Given the description of an element on the screen output the (x, y) to click on. 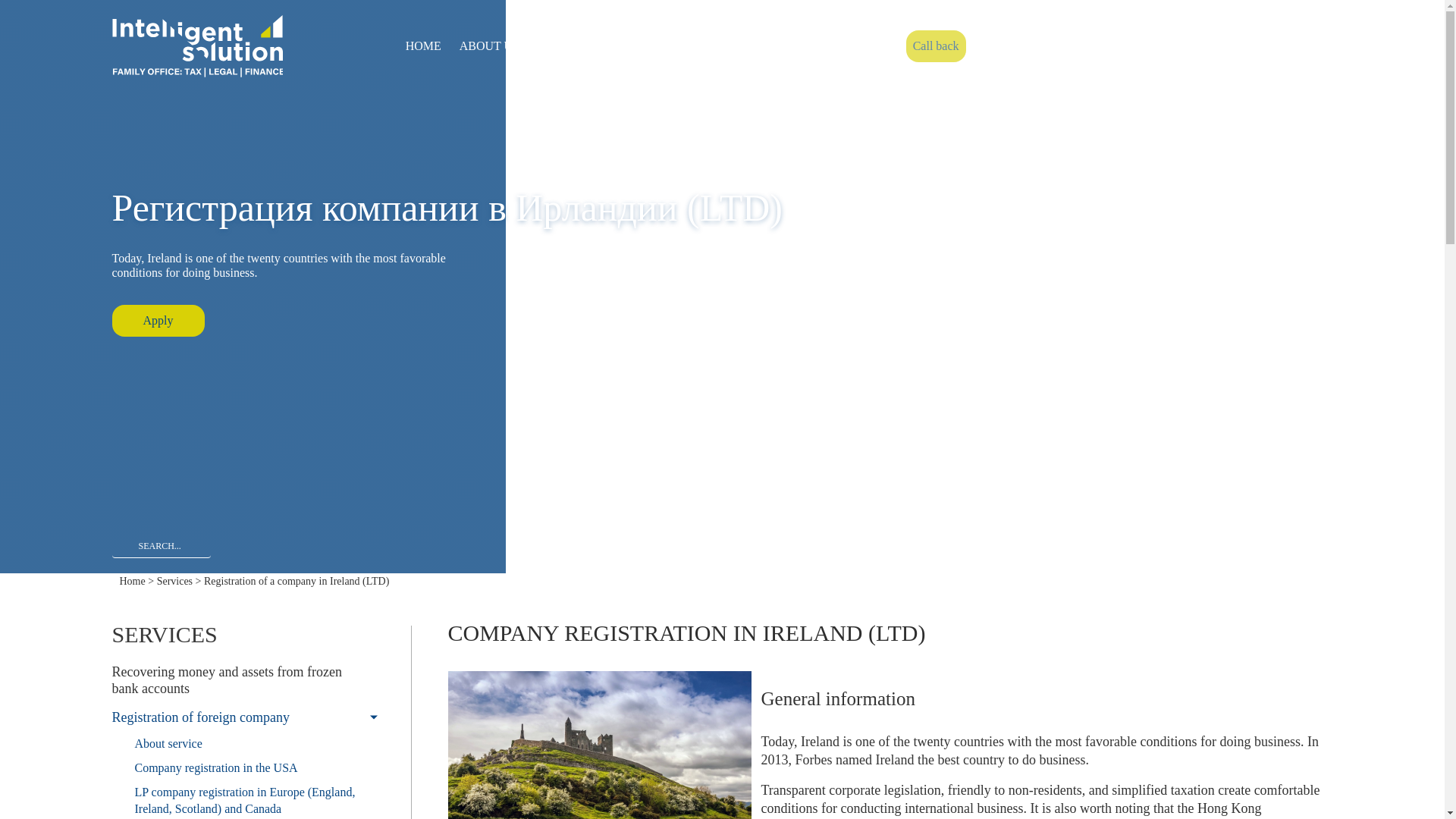
About service (244, 743)
CONTACTS (751, 46)
Recovering money and assets from frozen bank accounts (244, 679)
NEWS (684, 46)
Registration of foreign company (244, 717)
SERVICES (565, 46)
Call back (935, 46)
Home (132, 581)
Services (174, 581)
CASES (630, 46)
